Given the description of an element on the screen output the (x, y) to click on. 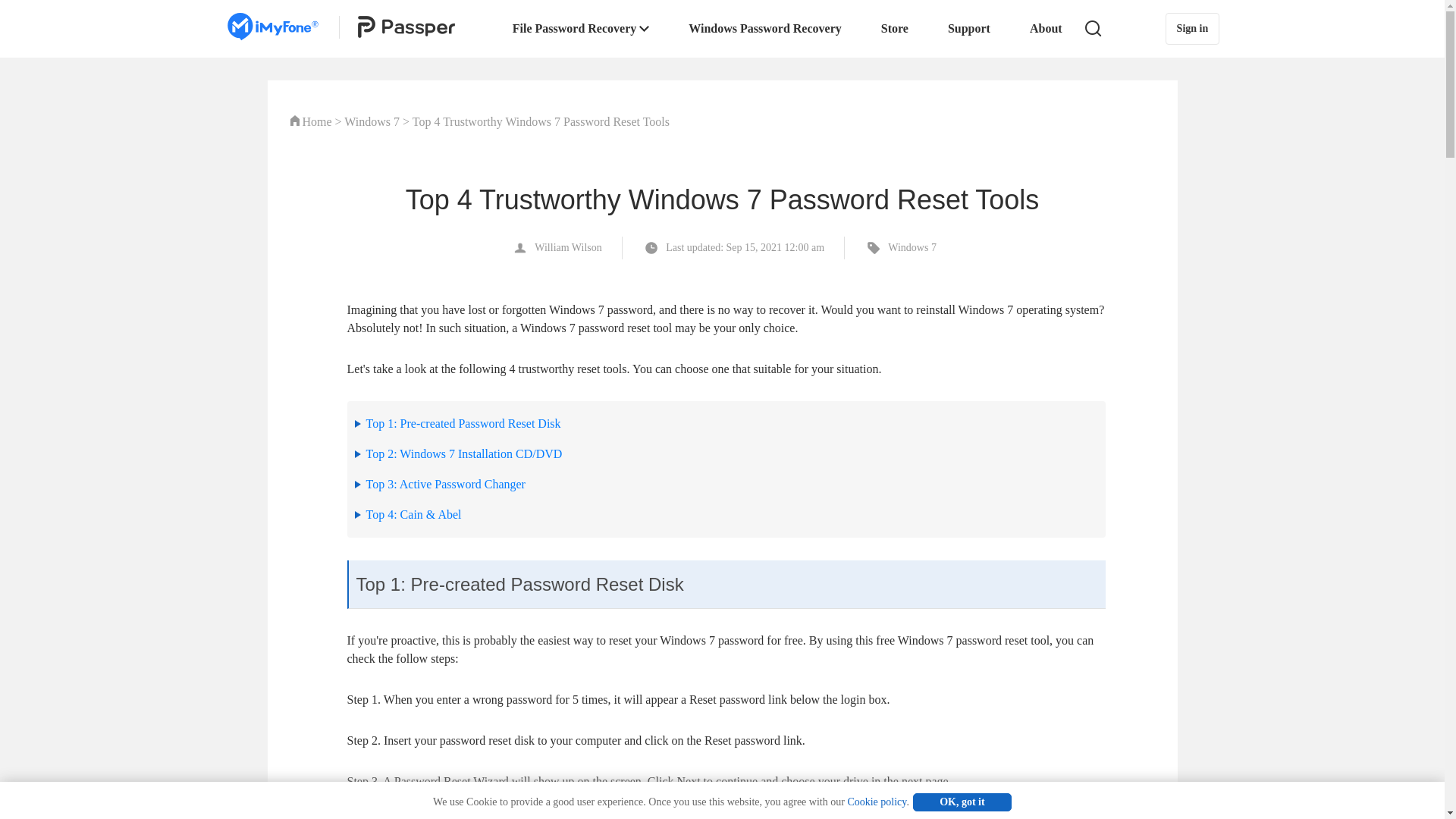
Support (969, 27)
Top 1: Pre-created Password Reset Disk (462, 422)
About (1045, 27)
File Password Recovery (581, 27)
Home (316, 121)
Windows 7 (370, 121)
Store (894, 27)
Windows Password Recovery (764, 27)
Windows 7 (898, 247)
Cookie policy (876, 801)
